Given the description of an element on the screen output the (x, y) to click on. 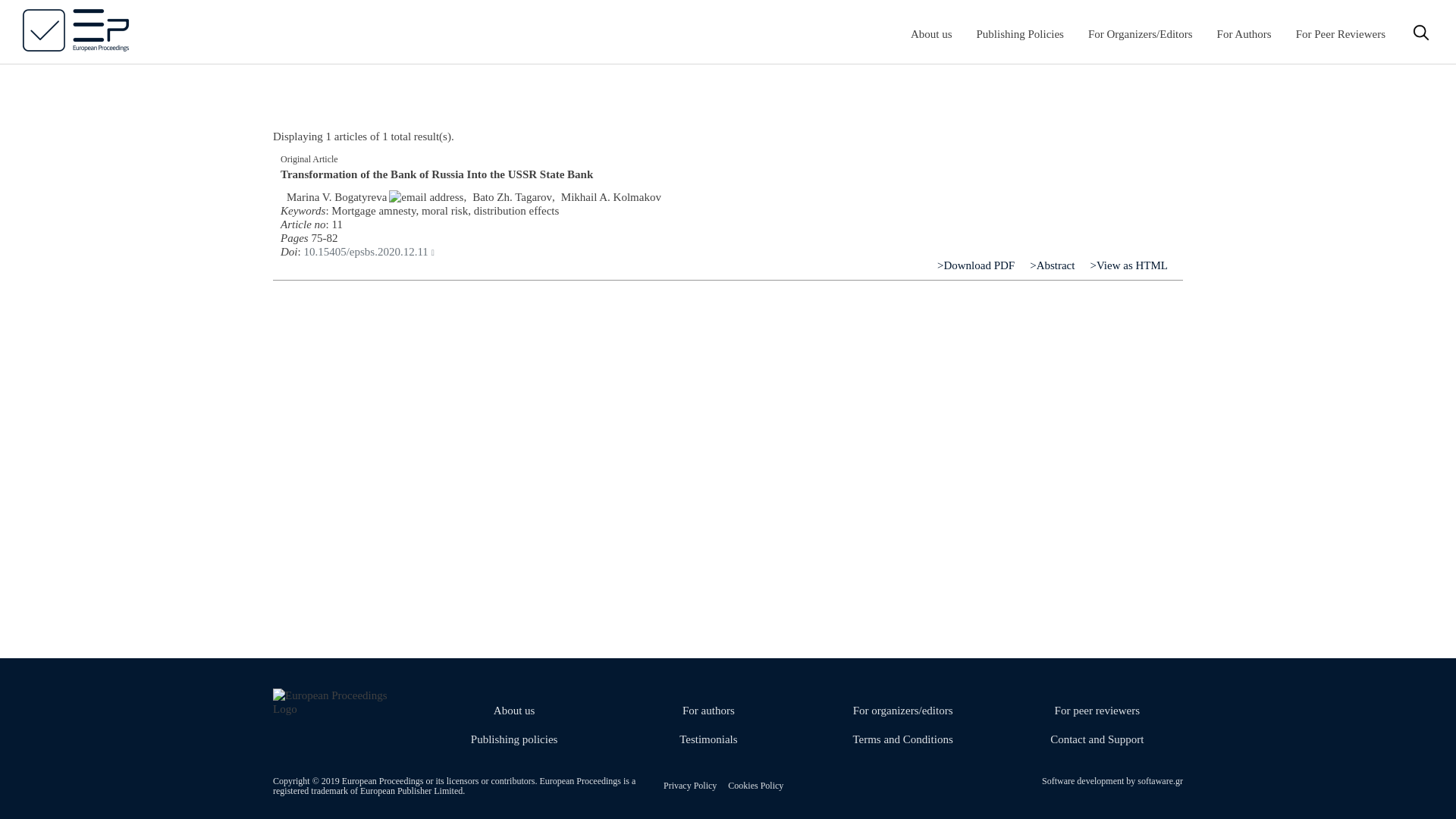
About us (513, 710)
Publishing Policies (1020, 33)
Testimonials (708, 739)
softaware.gr (1159, 780)
Software development (1083, 780)
Publishing policies (513, 739)
For authors (708, 710)
Software development company (1159, 780)
Privacy Policy (689, 786)
For Peer Reviewers (1340, 33)
Cookies Policy (755, 786)
For peer reviewers (1096, 710)
About us (931, 33)
For Authors (1244, 33)
Software development (1083, 780)
